Given the description of an element on the screen output the (x, y) to click on. 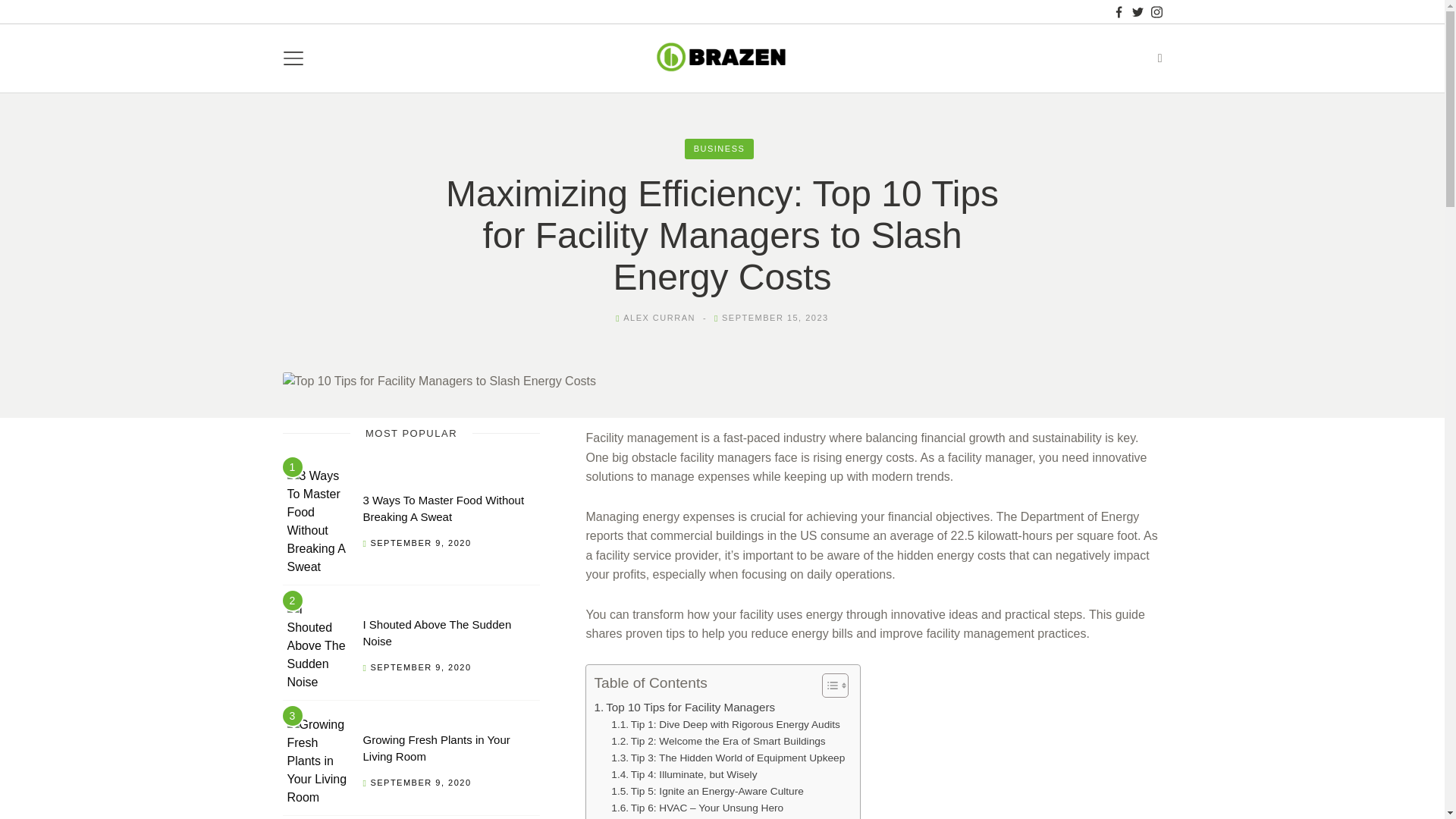
Tip 7: The Renewable Revolution (697, 817)
Growing Fresh Plants in Your Living Room (435, 747)
SEPTEMBER 15, 2023 (775, 317)
Tip 2: Welcome the Era of Smart Buildings (718, 741)
SEPTEMBER 9, 2020 (419, 666)
Top 10 Tips for Facility Managers (684, 707)
SEPTEMBER 9, 2020 (419, 542)
Tip 7: The Renewable Revolution (697, 817)
Tip 2: Welcome the Era of Smart Buildings (718, 741)
3 Ways To Master Food Without Breaking A Sweat (443, 508)
